Given the description of an element on the screen output the (x, y) to click on. 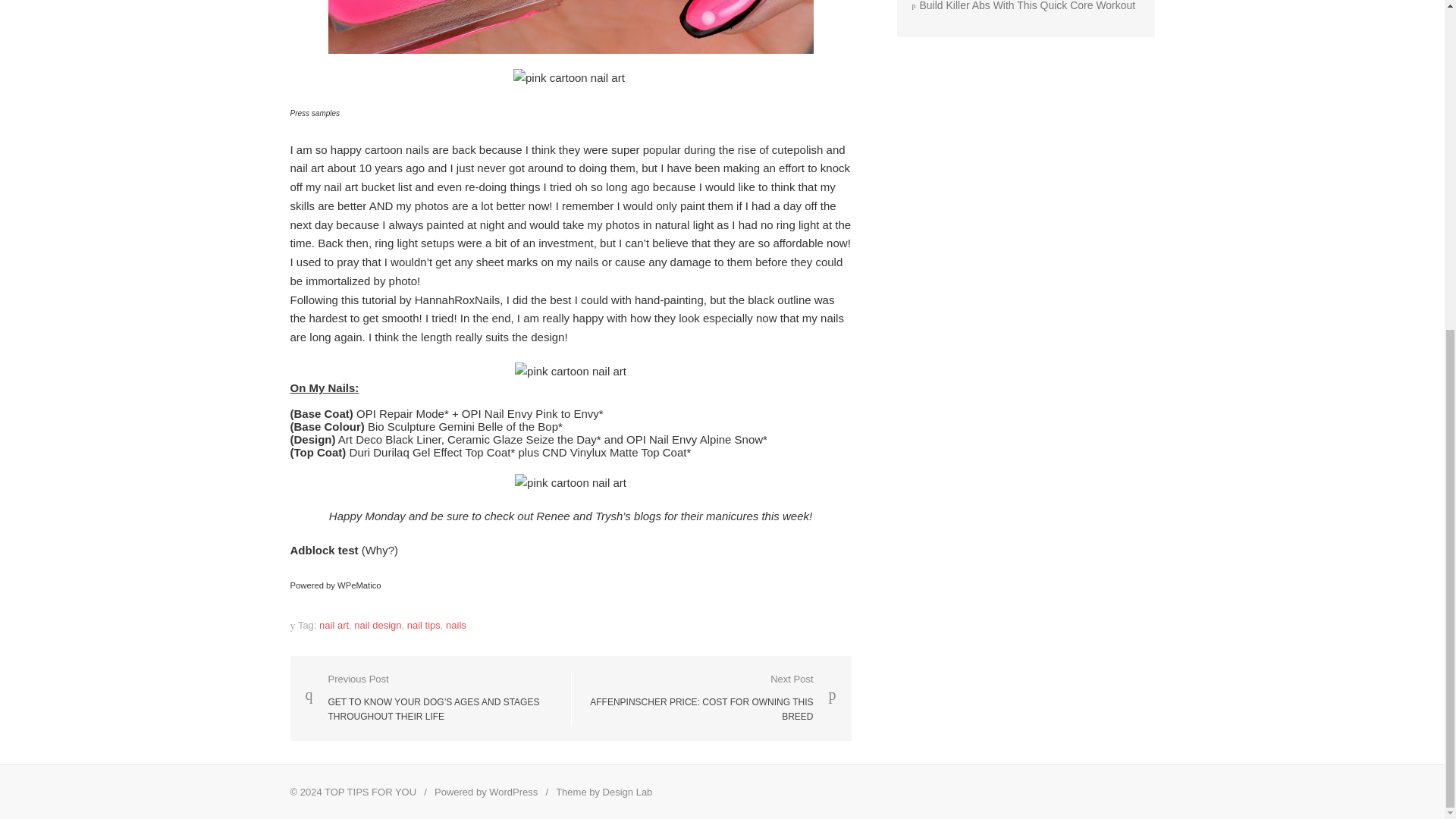
Theme by Design Lab (604, 791)
Build Killer Abs With This Quick Core Workout (1023, 5)
pink cartoon nail art (568, 77)
pink cartoon nail art (570, 371)
Powered by WordPress (485, 791)
pink cartoon nail art (570, 483)
nail tips (710, 697)
nail design (424, 624)
nails (377, 624)
